Given the description of an element on the screen output the (x, y) to click on. 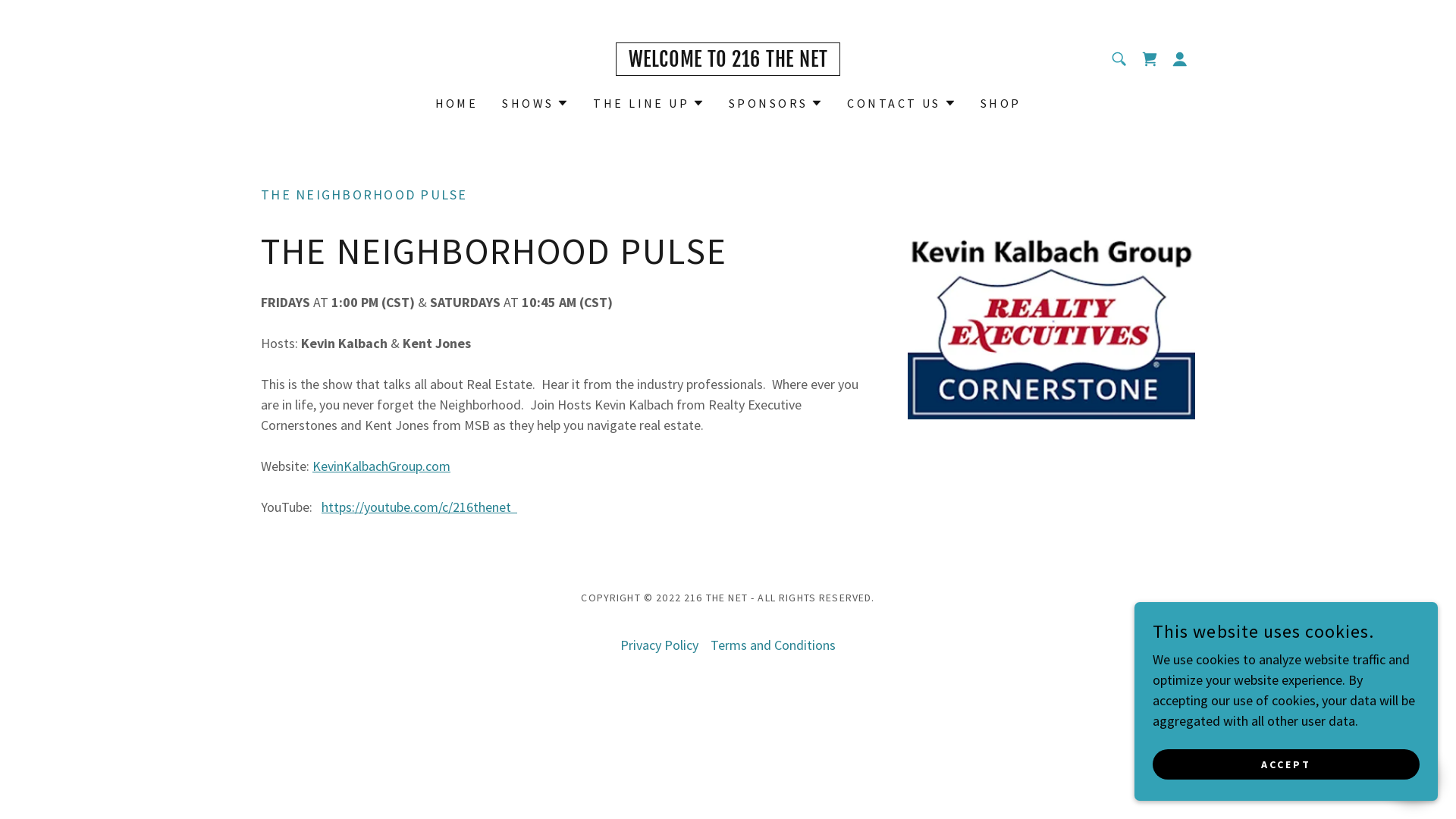
KevinKalbachGroup.com Element type: text (381, 465)
WELCOME TO 216 THE NET Element type: text (727, 61)
THE LINE UP Element type: text (648, 103)
CONTACT US Element type: text (901, 103)
SHOP Element type: text (1000, 102)
HOME Element type: text (456, 102)
ACCEPT Element type: text (1285, 764)
Terms and Conditions Element type: text (772, 644)
SHOWS Element type: text (535, 103)
https://youtube.com/c/216thenet   Element type: text (419, 506)
Privacy Policy Element type: text (659, 644)
SPONSORS Element type: text (775, 103)
